Given the description of an element on the screen output the (x, y) to click on. 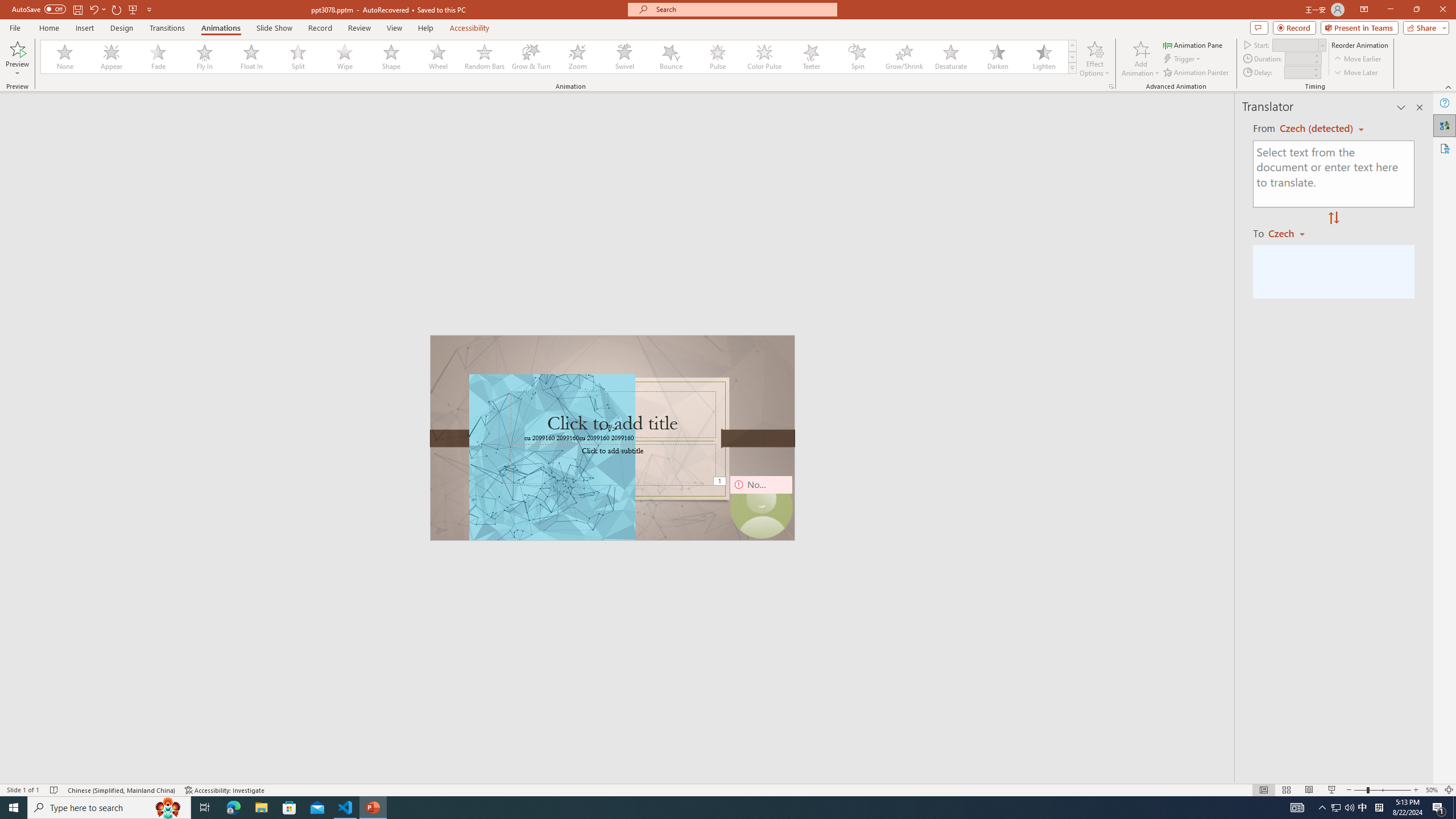
Task Pane Options (1400, 107)
Preview (17, 58)
Spin (857, 56)
Spell Check No Errors (54, 790)
Lighten (1043, 56)
